Given the description of an element on the screen output the (x, y) to click on. 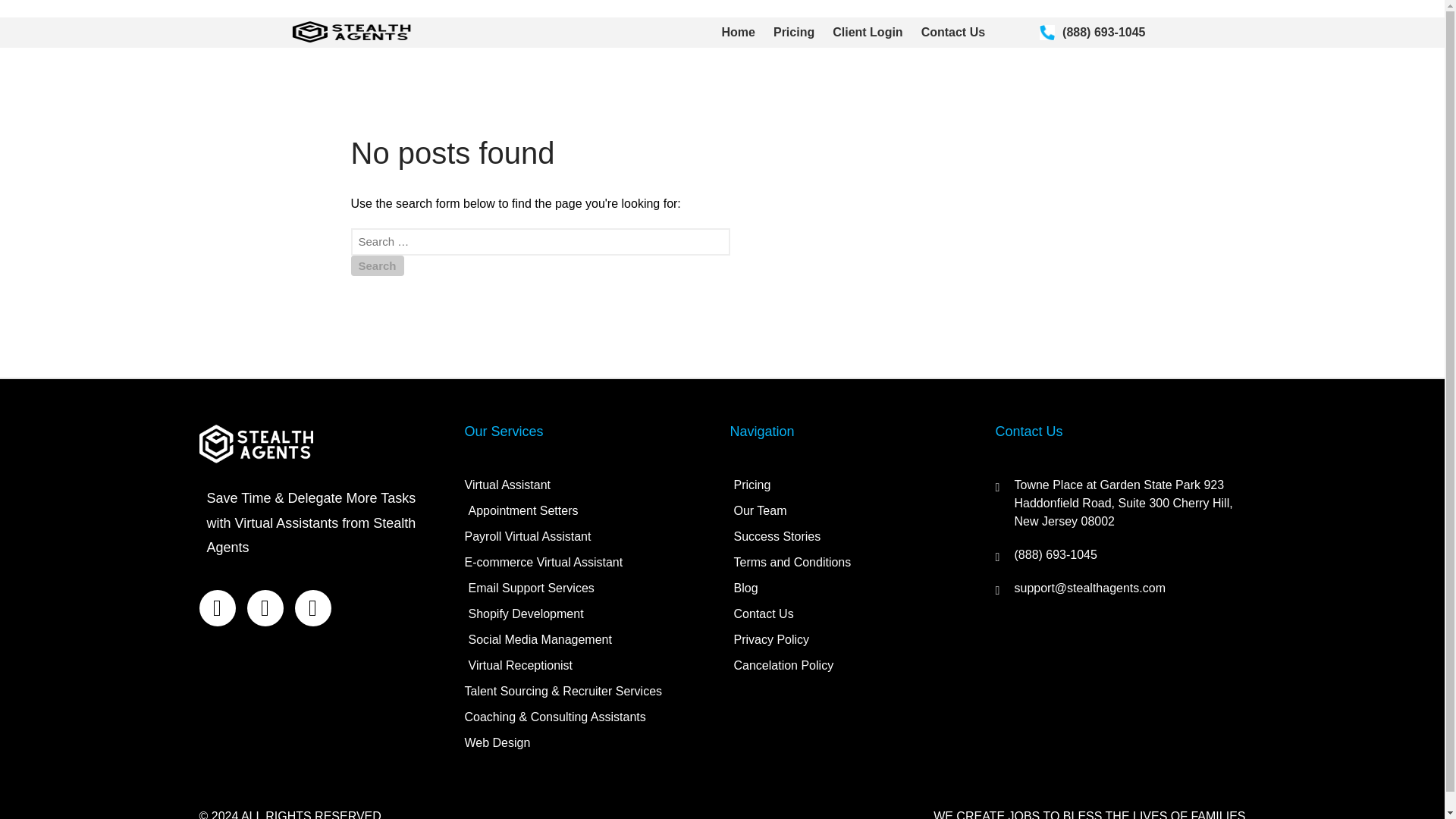
Social Media Management (589, 639)
Shopify Development (589, 614)
Virtual Receptionist (589, 665)
Home (738, 32)
Appointment Setters (589, 511)
Virtual Assistant (589, 484)
Web Design (589, 742)
Stealth Agents (466, 42)
Success Stories (854, 536)
